Given the description of an element on the screen output the (x, y) to click on. 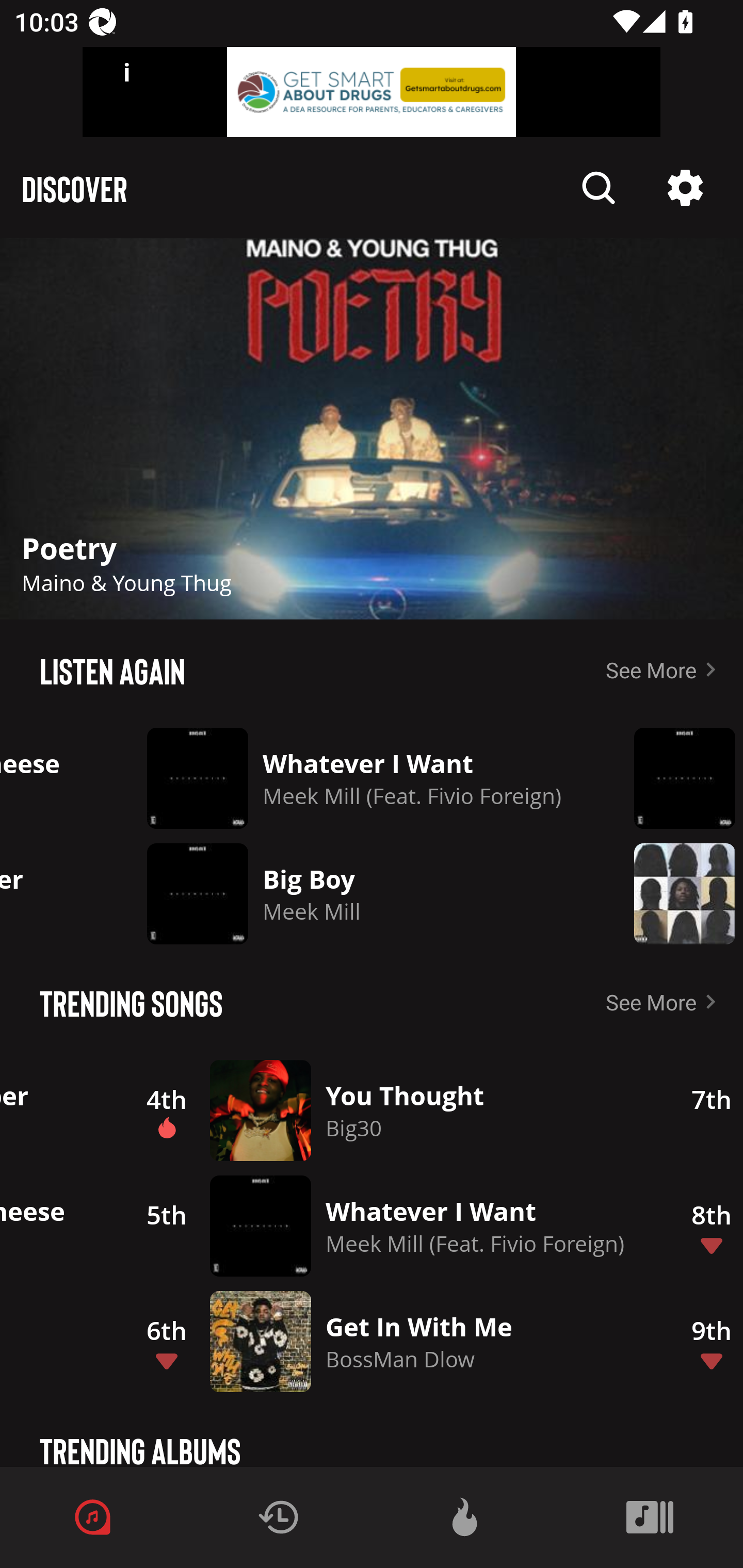
Description (598, 188)
Description (684, 188)
Description (371, 428)
See More (664, 669)
Description (674, 778)
Description Big Boy Meek Mill (354, 893)
Description (674, 893)
See More (664, 1001)
4th Description Description You Thought Big30 (388, 1110)
